Given the description of an element on the screen output the (x, y) to click on. 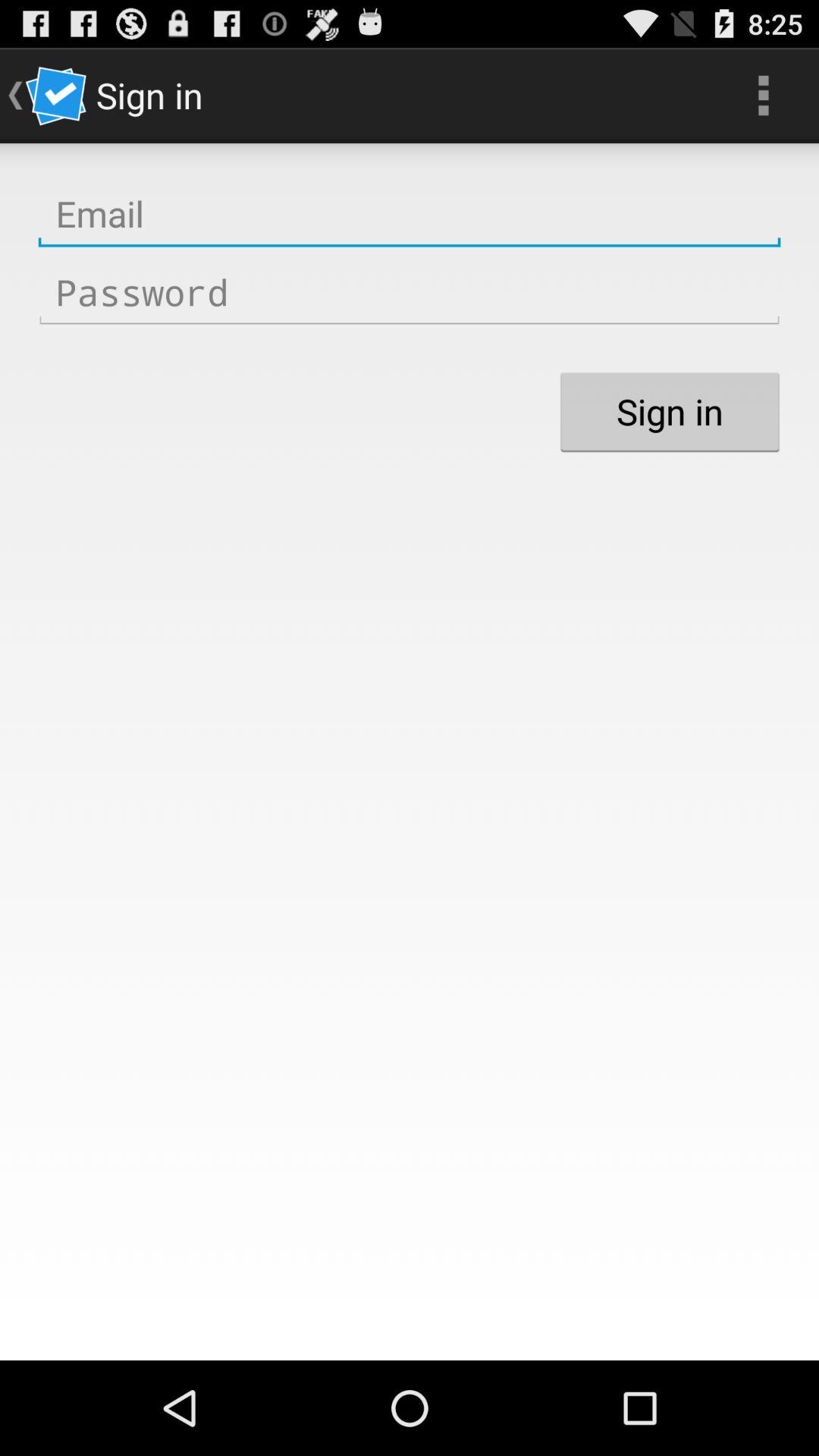
press item next to the sign in icon (763, 95)
